Given the description of an element on the screen output the (x, y) to click on. 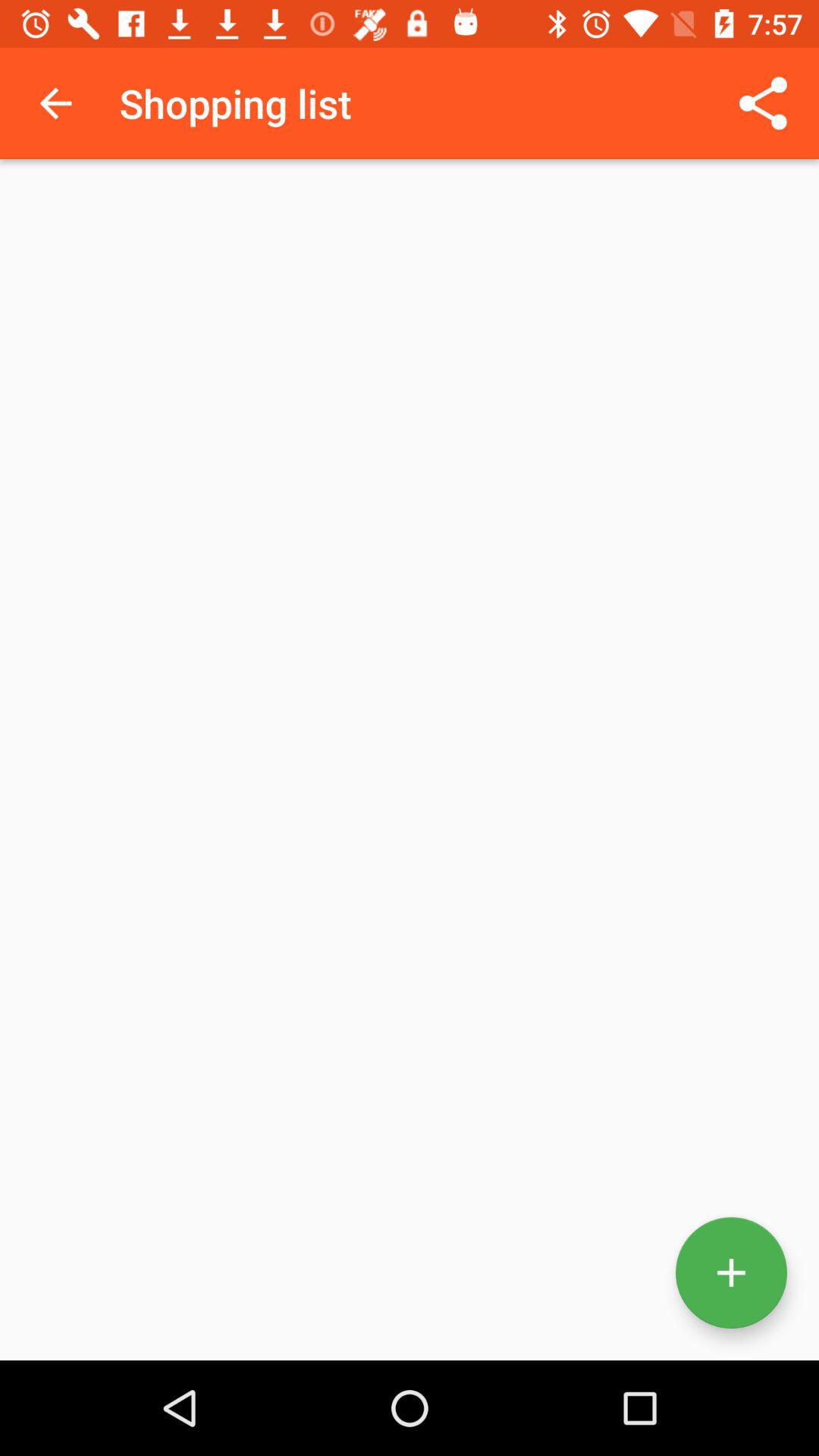
launch the icon next to shopping list item (763, 103)
